Given the description of an element on the screen output the (x, y) to click on. 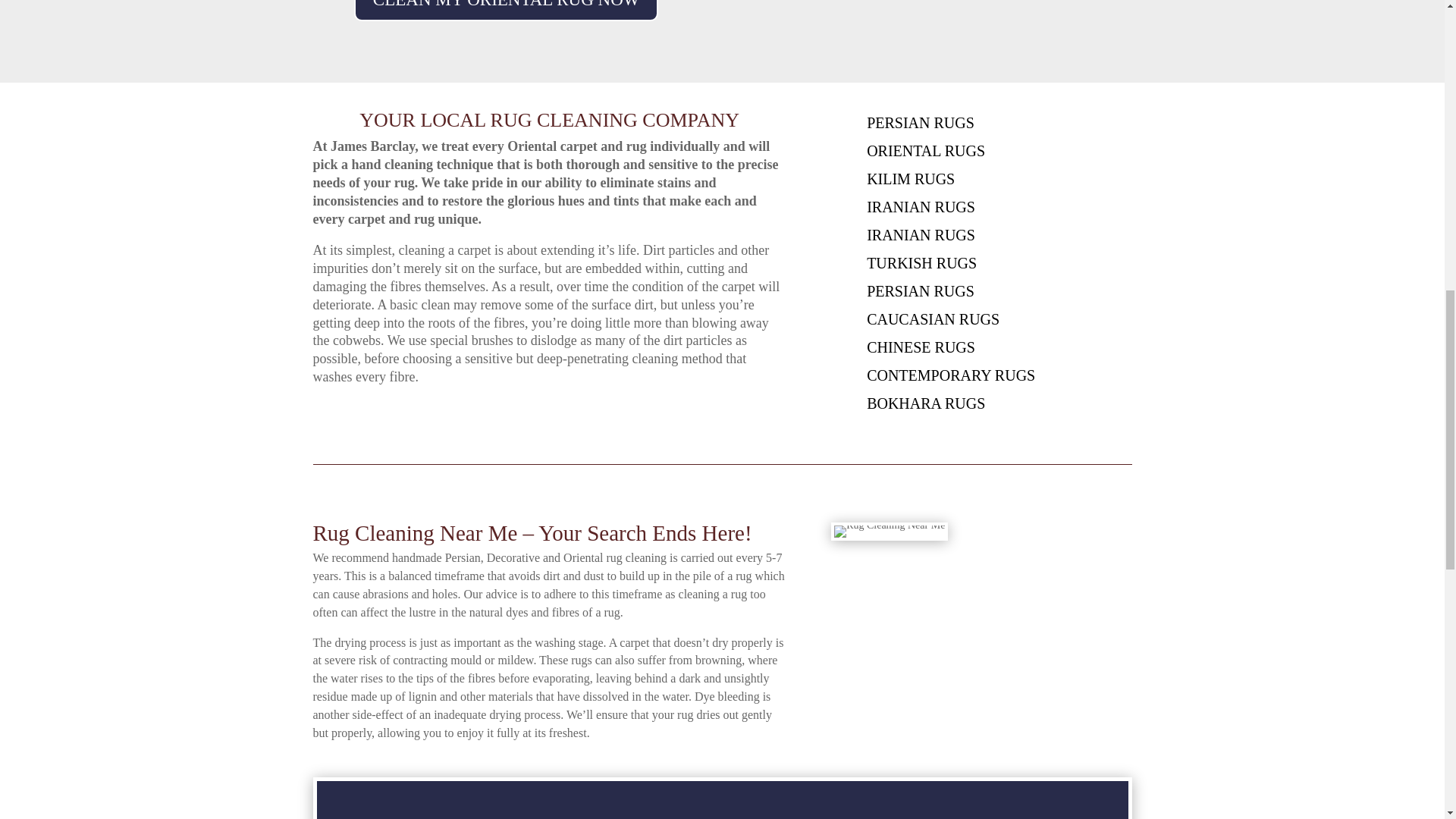
CLEAN MY ORIENTAL RUG NOW (506, 11)
brush (889, 531)
Rug stain removal and deep cleaning service. (549, 687)
Oriental rug hand cleaning restoration service. (549, 189)
Rug stain removal and deep cleaning service. (549, 313)
Rug stain removal and deep cleaning service. (549, 590)
